Given the description of an element on the screen output the (x, y) to click on. 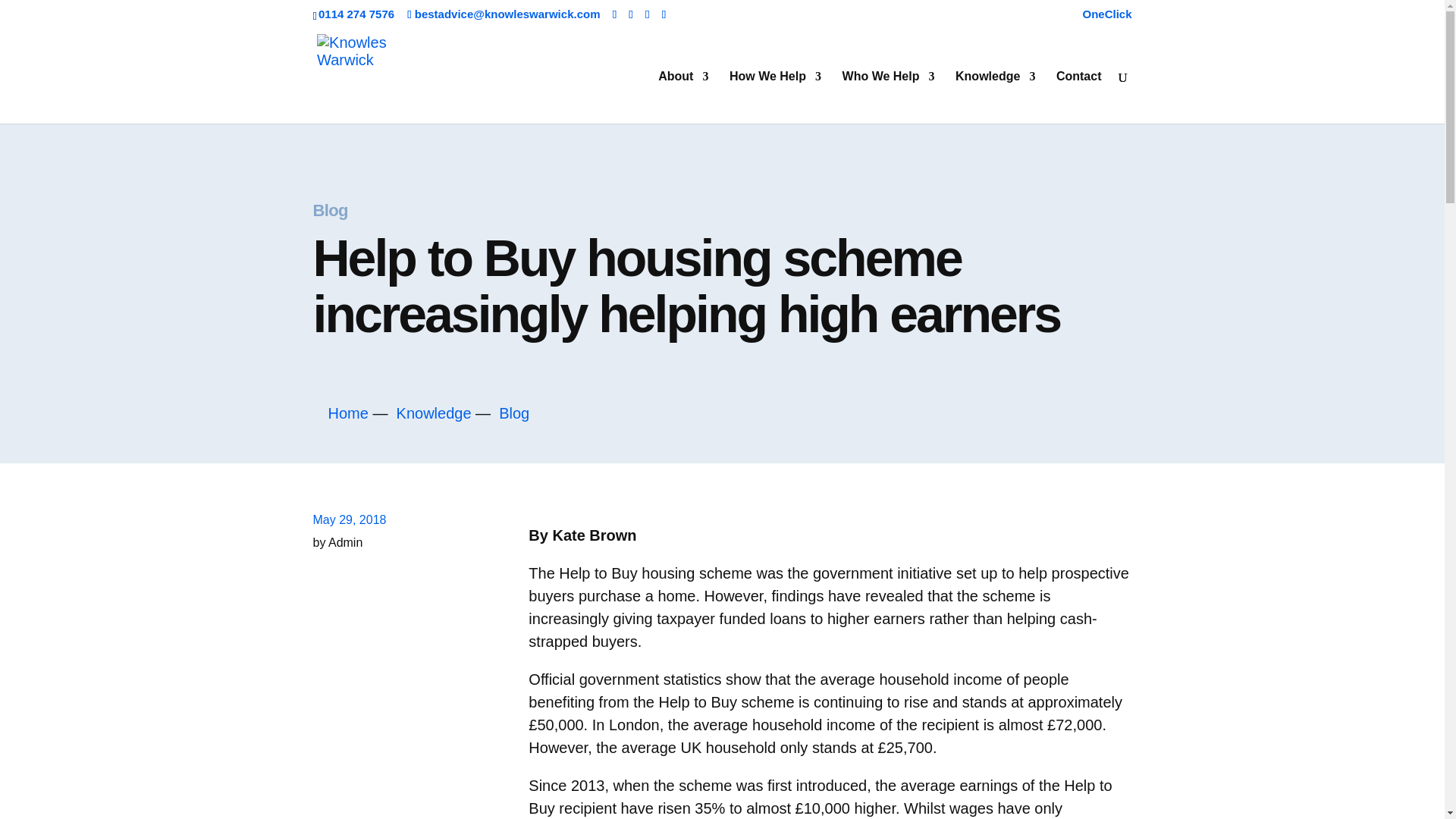
Posts by Admin (345, 542)
